Given the description of an element on the screen output the (x, y) to click on. 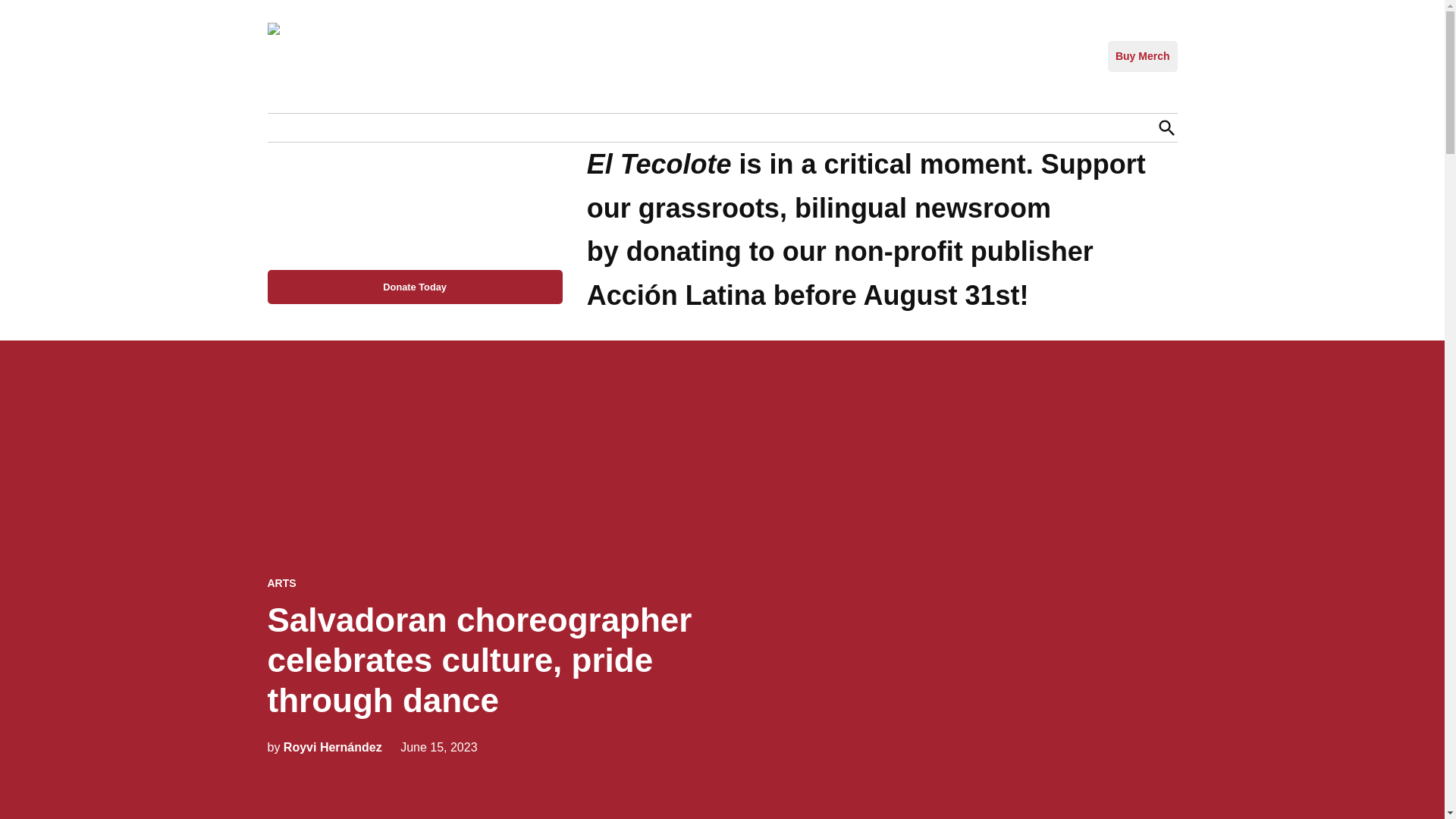
El Tecolote (625, 77)
Open Search (1166, 127)
Donate Today (414, 287)
Buy Merch (1142, 56)
ARTS (280, 583)
